Given the description of an element on the screen output the (x, y) to click on. 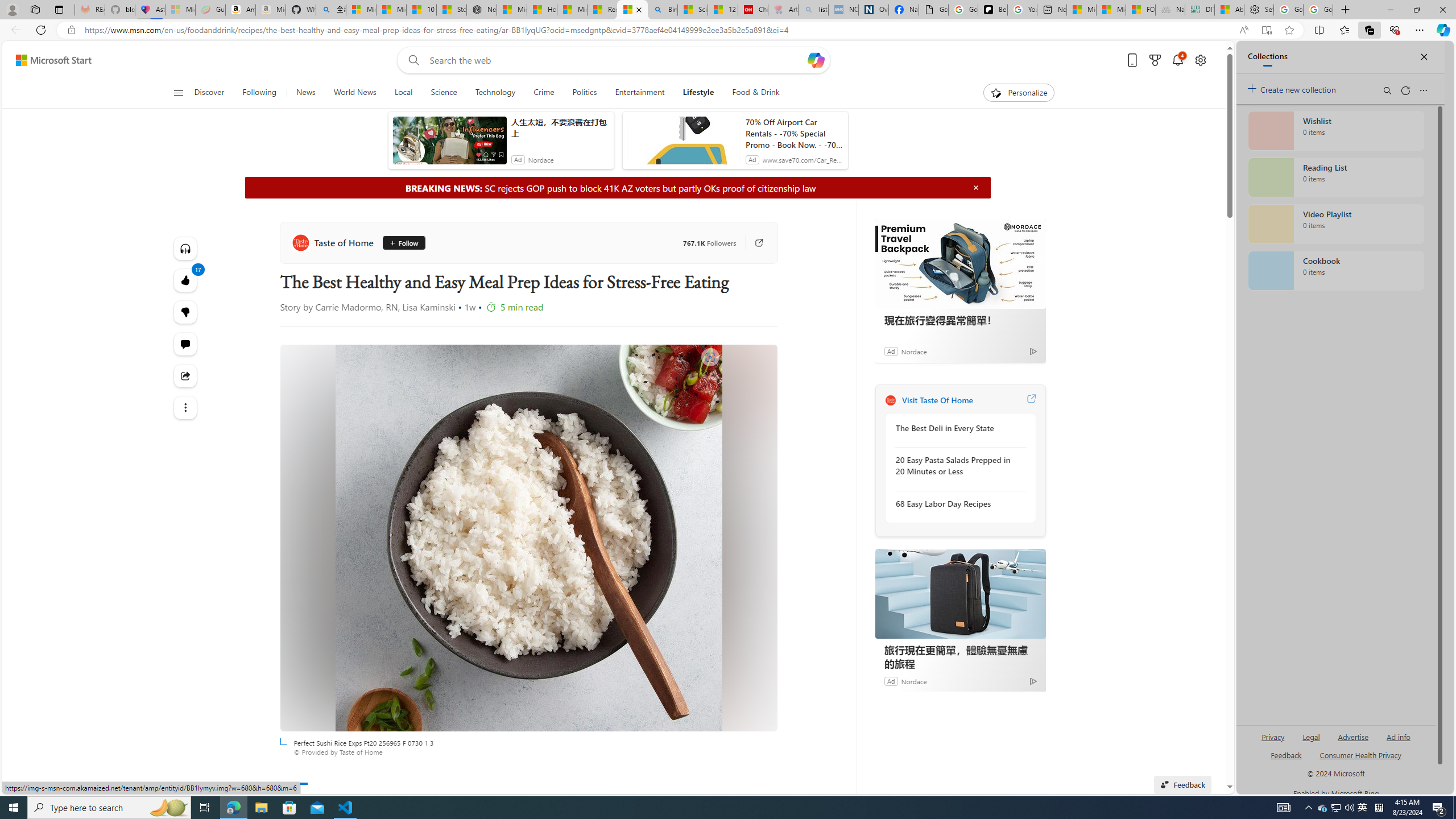
Nordace - Nordace Siena Is Not An Ordinary Backpack (481, 9)
Science - MSN (691, 9)
DITOGAMES AG Imprint (1200, 9)
Follow (403, 242)
Technology (494, 92)
Microsoft rewards (1154, 60)
Navy Quest (1169, 9)
Hide (975, 187)
